Given the description of an element on the screen output the (x, y) to click on. 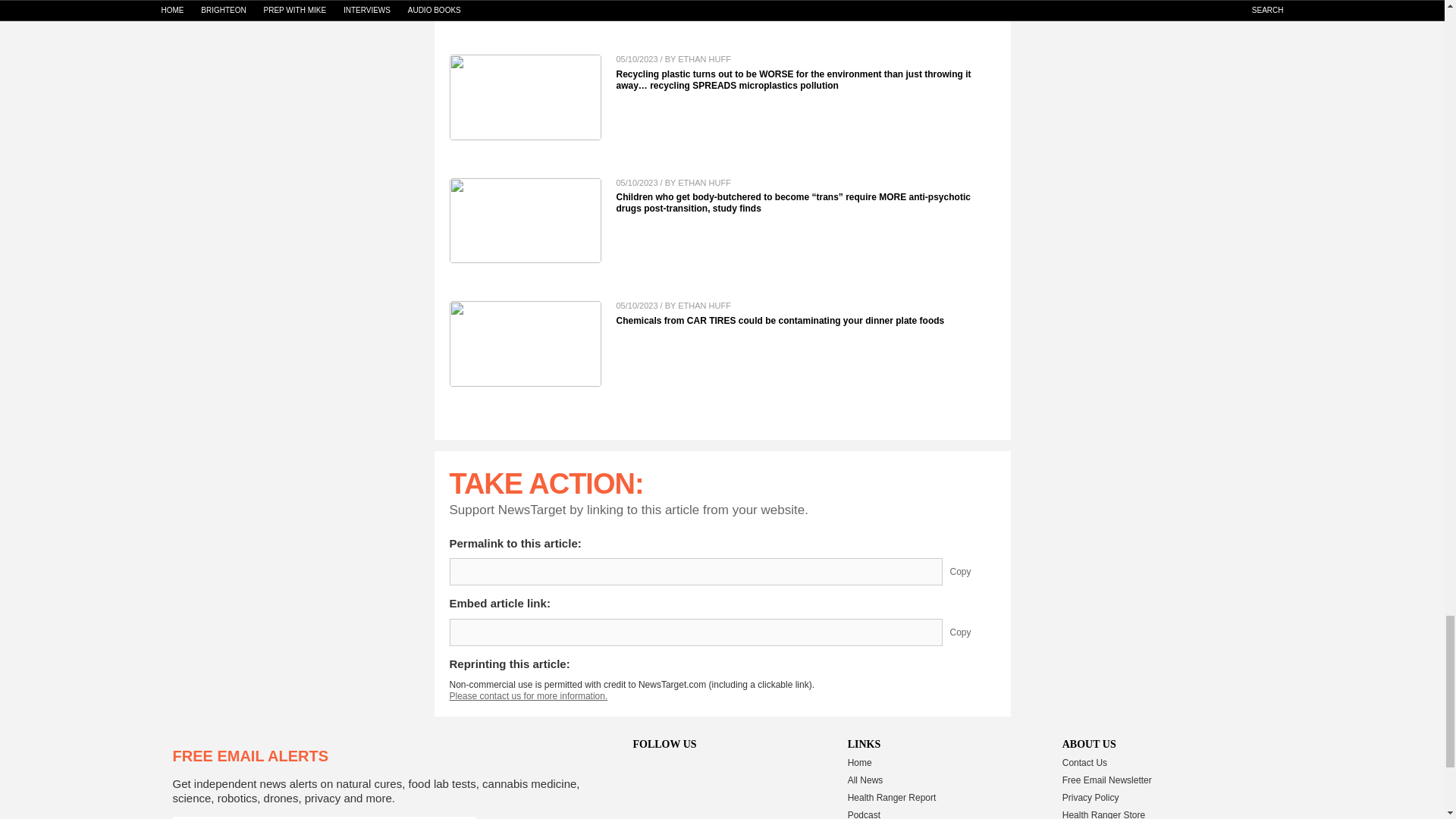
Copy Permalink (971, 571)
Copy Embed Link (971, 632)
Continue (459, 817)
